Given the description of an element on the screen output the (x, y) to click on. 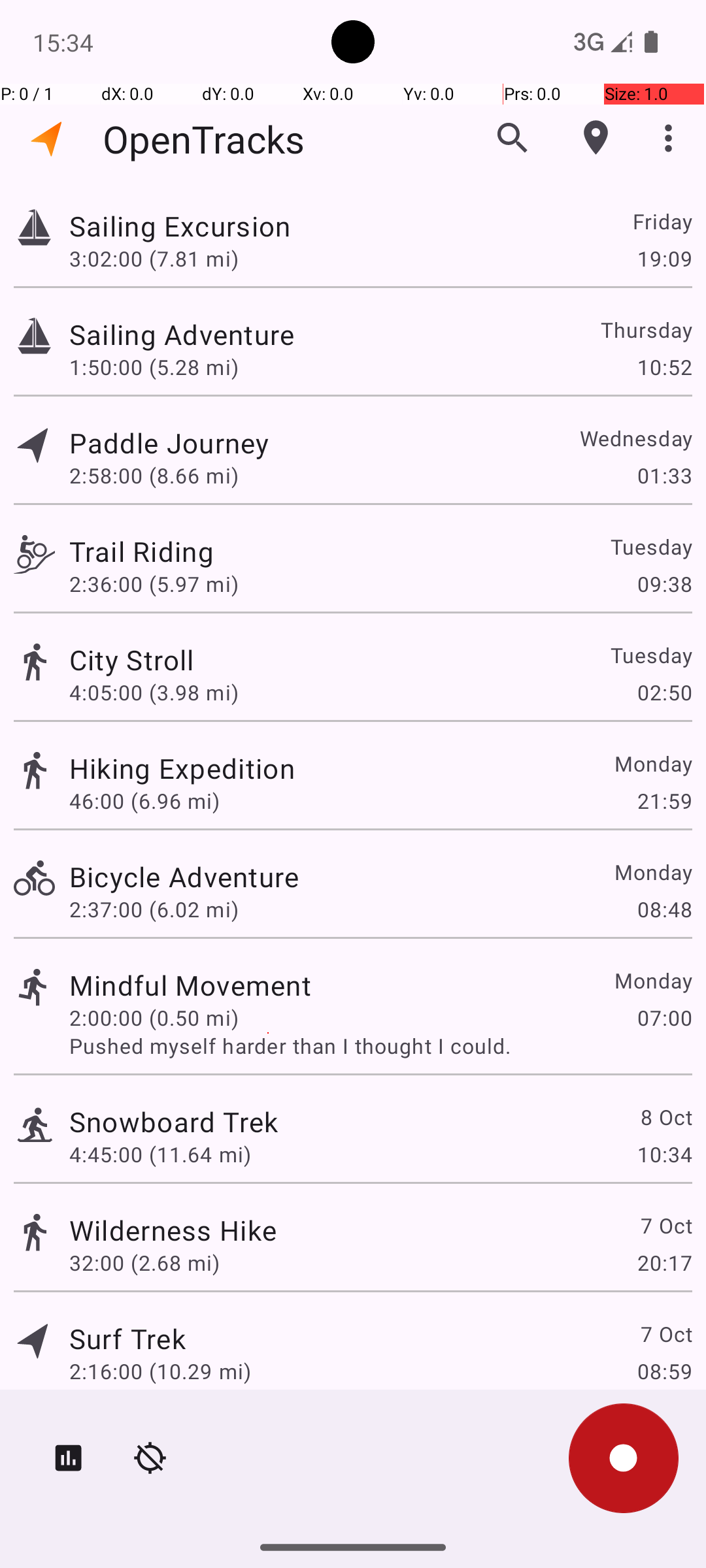
Sailing Excursion Element type: android.widget.TextView (179, 225)
3:02:00 (7.81 mi) Element type: android.widget.TextView (153, 258)
19:09 Element type: android.widget.TextView (664, 258)
Sailing Adventure Element type: android.widget.TextView (181, 333)
1:50:00 (5.28 mi) Element type: android.widget.TextView (153, 366)
10:52 Element type: android.widget.TextView (664, 366)
Paddle Journey Element type: android.widget.TextView (168, 442)
2:58:00 (8.66 mi) Element type: android.widget.TextView (153, 475)
01:33 Element type: android.widget.TextView (664, 475)
Trail Riding Element type: android.widget.TextView (141, 550)
2:36:00 (5.97 mi) Element type: android.widget.TextView (153, 583)
09:38 Element type: android.widget.TextView (664, 583)
City Stroll Element type: android.widget.TextView (131, 659)
4:05:00 (3.98 mi) Element type: android.widget.TextView (153, 692)
02:50 Element type: android.widget.TextView (664, 692)
Hiking Expedition Element type: android.widget.TextView (181, 767)
46:00 (6.96 mi) Element type: android.widget.TextView (144, 800)
21:59 Element type: android.widget.TextView (664, 800)
Bicycle Adventure Element type: android.widget.TextView (183, 876)
2:37:00 (6.02 mi) Element type: android.widget.TextView (153, 909)
08:48 Element type: android.widget.TextView (664, 909)
Mindful Movement Element type: android.widget.TextView (189, 984)
2:00:00 (0.50 mi) Element type: android.widget.TextView (153, 1017)
07:00 Element type: android.widget.TextView (664, 1017)
Pushed myself harder than I thought I could. Element type: android.widget.TextView (380, 1045)
Snowboard Trek Element type: android.widget.TextView (173, 1121)
8 Oct Element type: android.widget.TextView (665, 1116)
4:45:00 (11.64 mi) Element type: android.widget.TextView (159, 1154)
10:34 Element type: android.widget.TextView (664, 1154)
Wilderness Hike Element type: android.widget.TextView (172, 1229)
7 Oct Element type: android.widget.TextView (665, 1225)
32:00 (2.68 mi) Element type: android.widget.TextView (144, 1262)
20:17 Element type: android.widget.TextView (664, 1262)
Surf Trek Element type: android.widget.TextView (127, 1337)
2:16:00 (10.29 mi) Element type: android.widget.TextView (159, 1370)
08:59 Element type: android.widget.TextView (664, 1370)
